Given the description of an element on the screen output the (x, y) to click on. 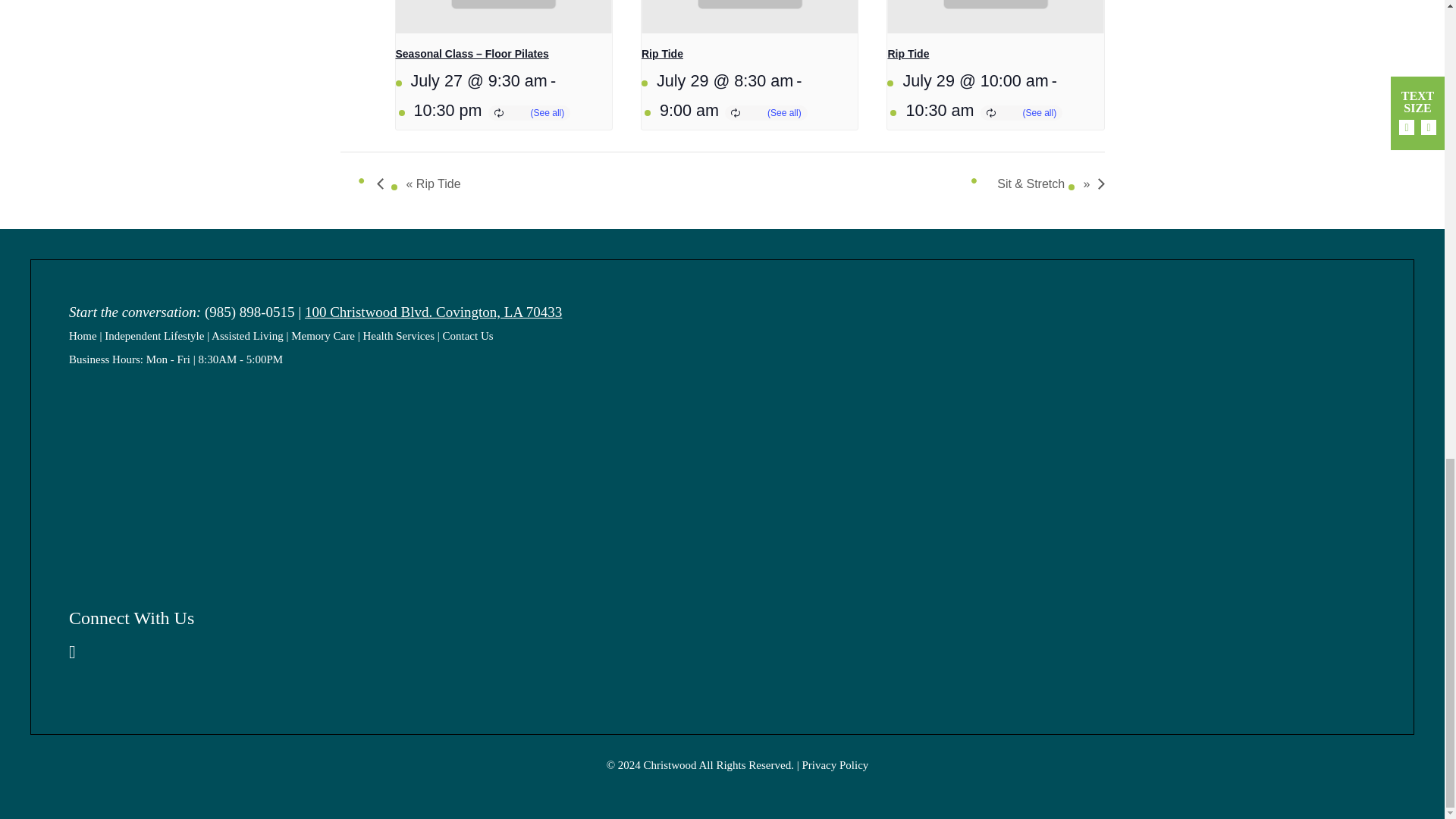
Rip Tide (662, 53)
Rip Tide (907, 53)
